Given the description of an element on the screen output the (x, y) to click on. 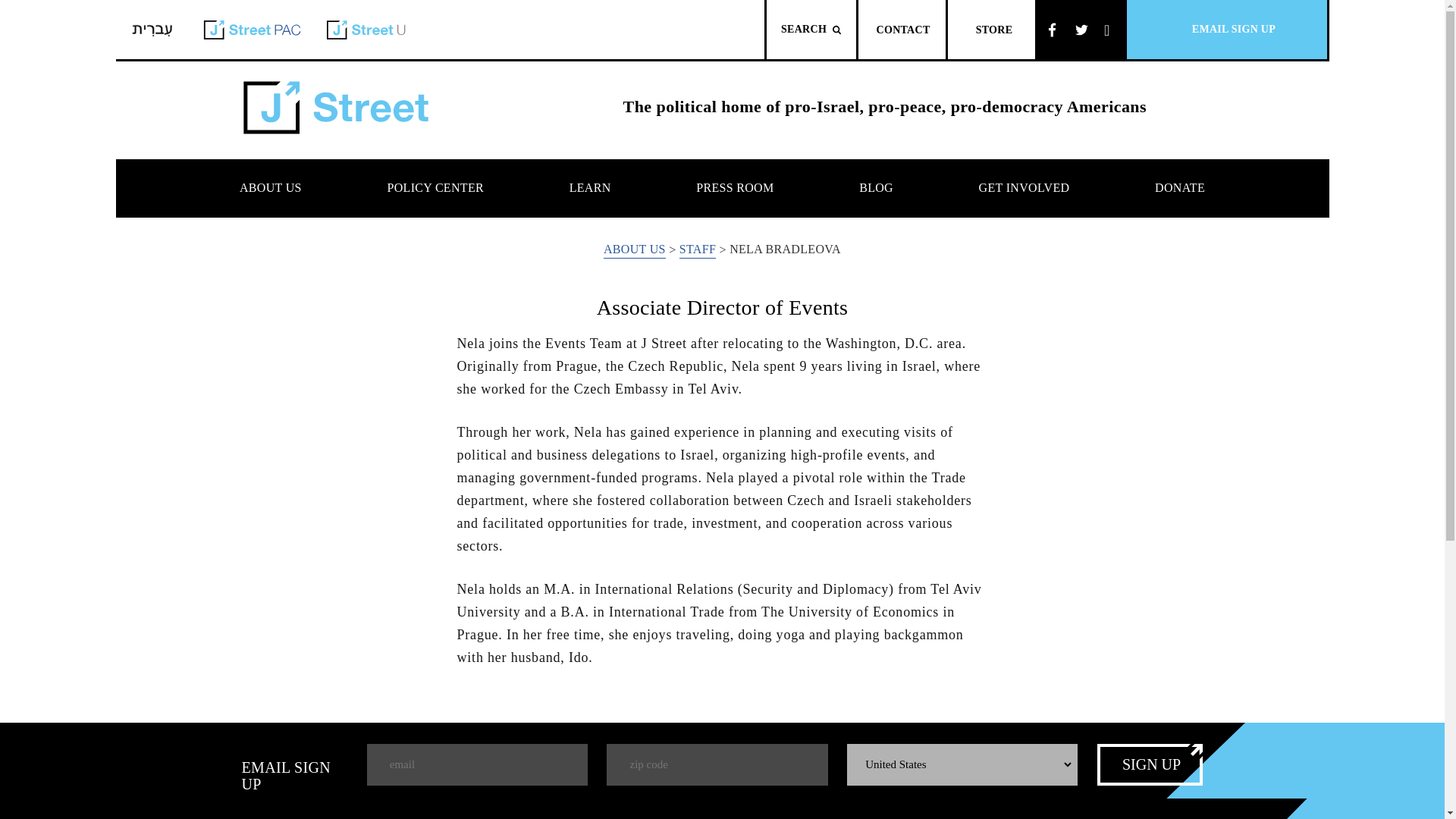
Go to Staff. (697, 250)
STORE (991, 29)
CONTACT (901, 29)
ABOUT US (270, 187)
Go to About Us. (634, 250)
POLICY CENTER (435, 187)
SEARCH (811, 29)
EMAIL SIGN UP (1226, 29)
